Given the description of an element on the screen output the (x, y) to click on. 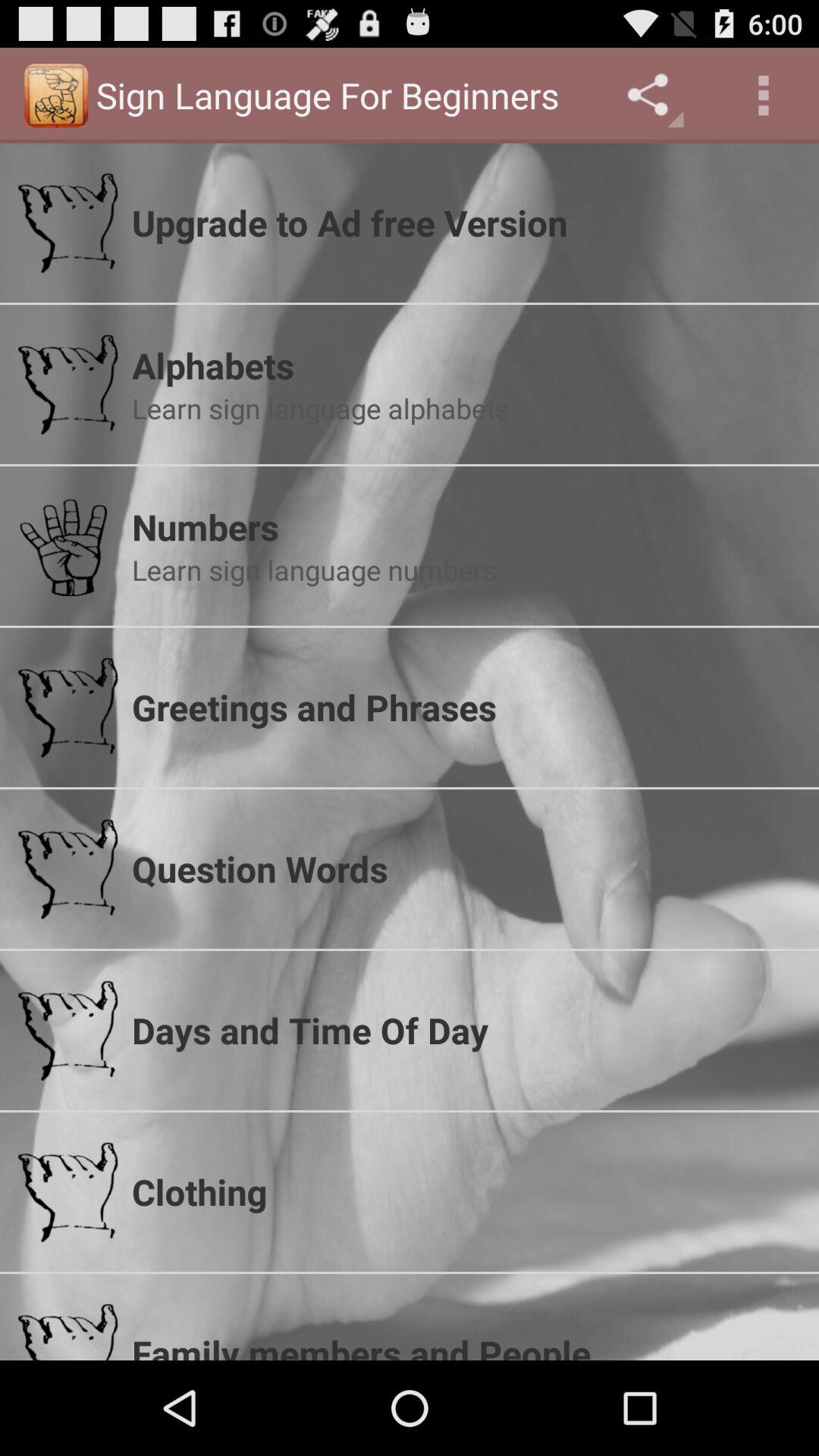
launch icon below the greetings and phrases item (465, 868)
